Given the description of an element on the screen output the (x, y) to click on. 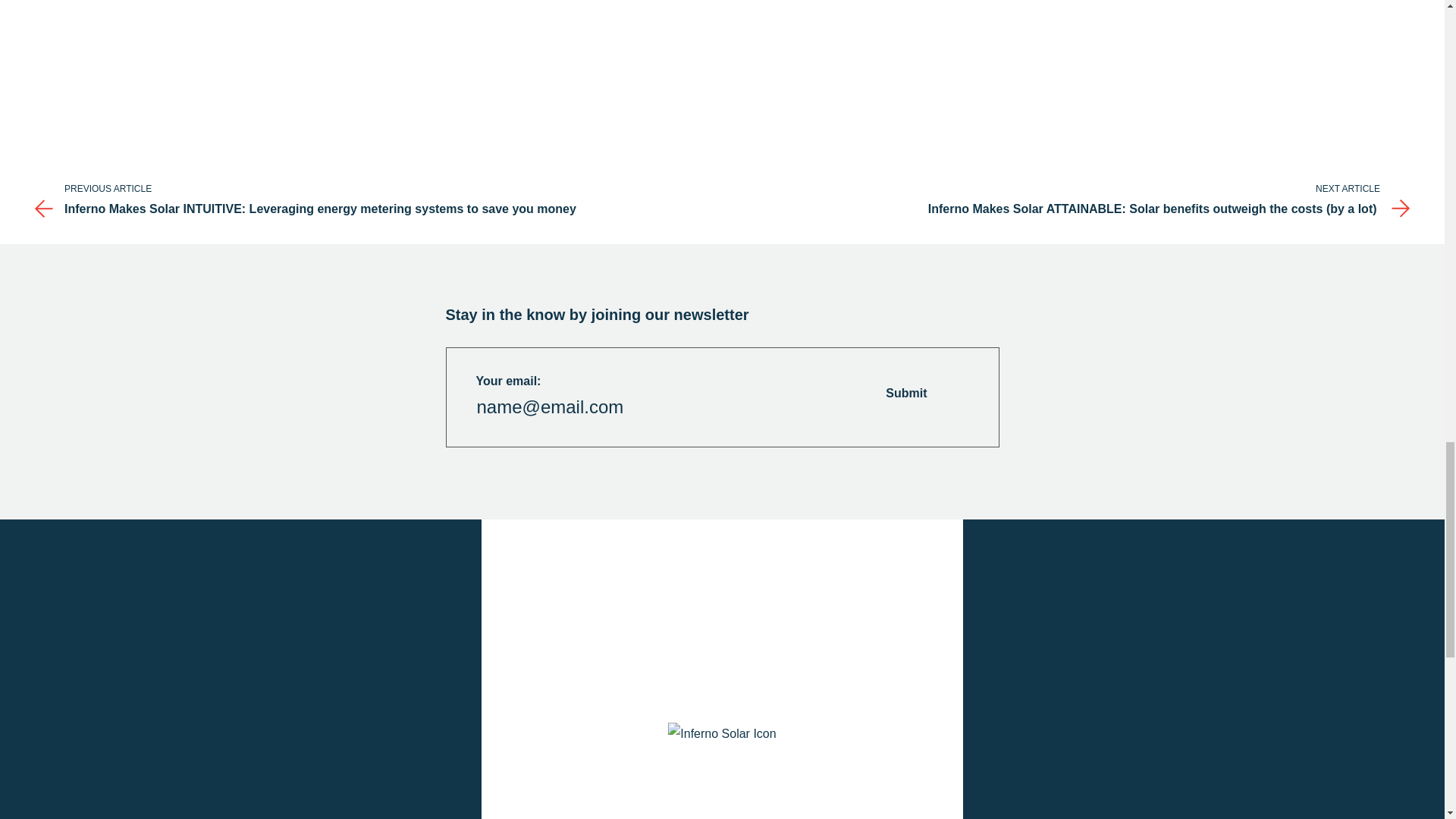
Group 5 Copy 3 Created with Sketch. (42, 208)
Submit (924, 393)
Submit (924, 393)
Group 5 Copy 3 Created with Sketch. (1400, 208)
